Given the description of an element on the screen output the (x, y) to click on. 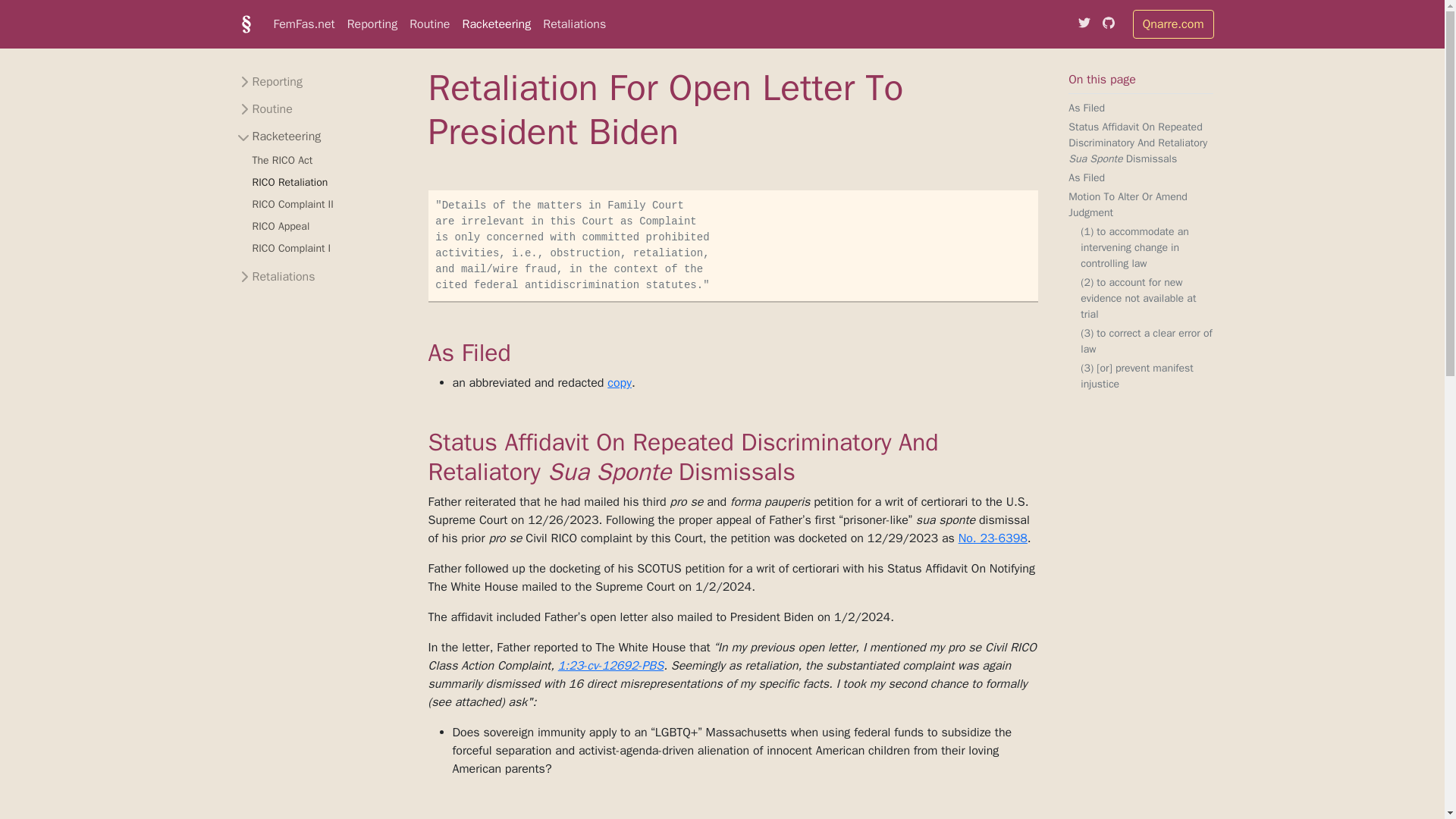
FemFas.net (303, 24)
Retaliations (275, 276)
Routine (264, 109)
RICO Complaint II (292, 204)
Racketeering (278, 136)
Reporting (268, 81)
Qnarre.com (1173, 23)
RICO Retaliation (289, 181)
The RICO Act (282, 159)
Routine (429, 24)
